Given the description of an element on the screen output the (x, y) to click on. 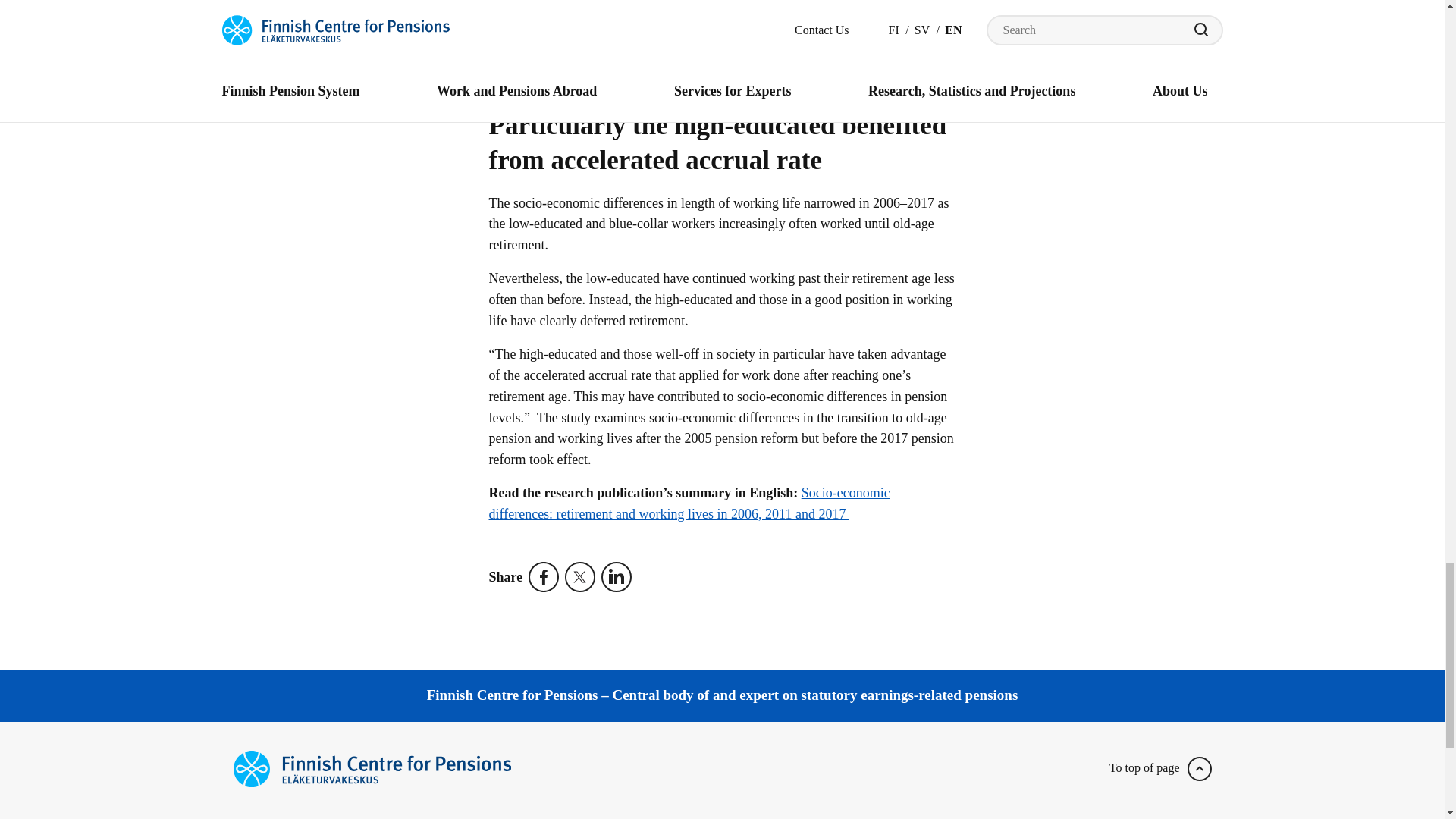
Share on LinkedIn (619, 576)
Share on Facebook (546, 576)
Share on X (582, 576)
